Given the description of an element on the screen output the (x, y) to click on. 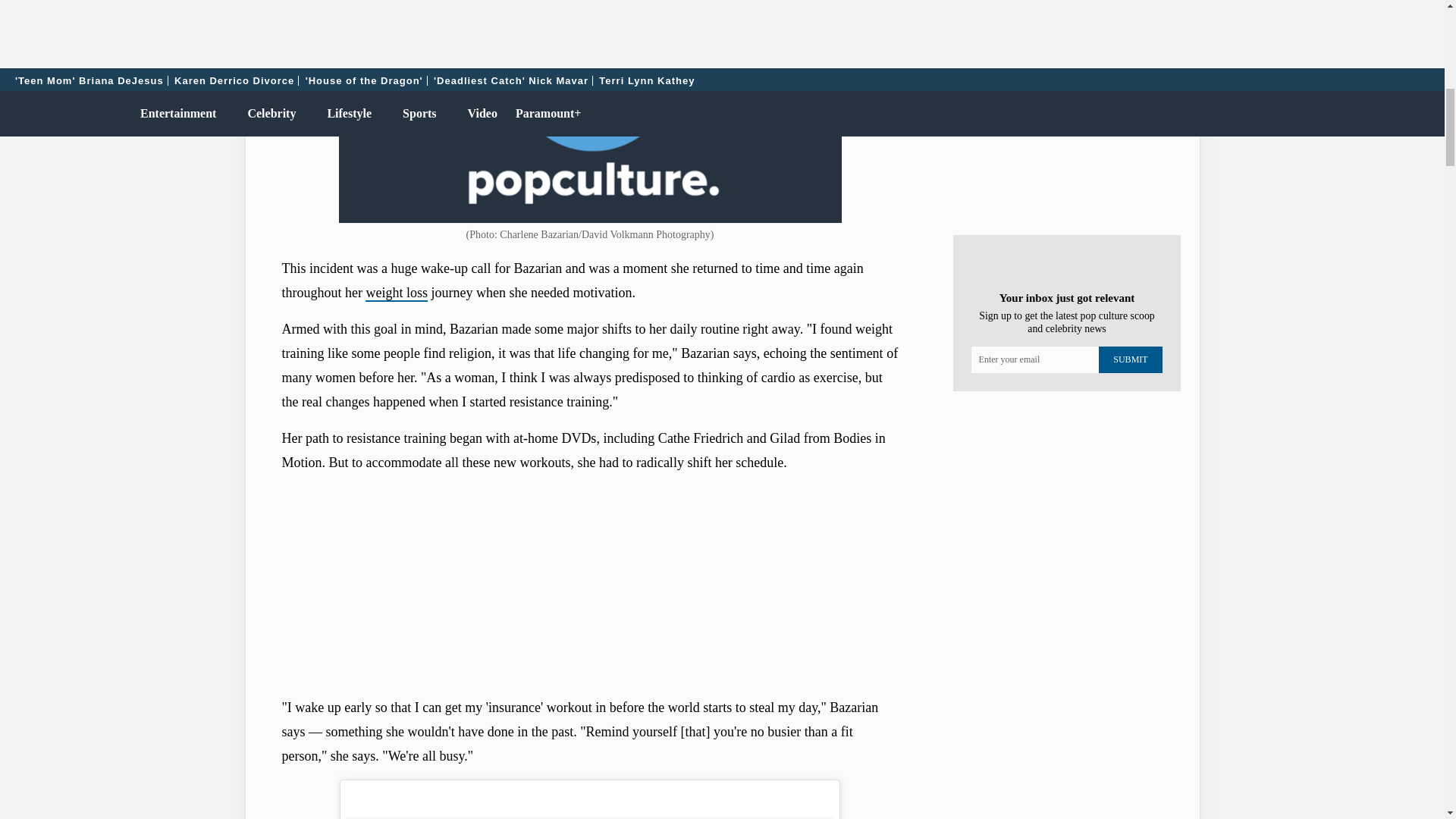
CharleneBazarian-weight-loss (589, 111)
submit (1130, 359)
